Given the description of an element on the screen output the (x, y) to click on. 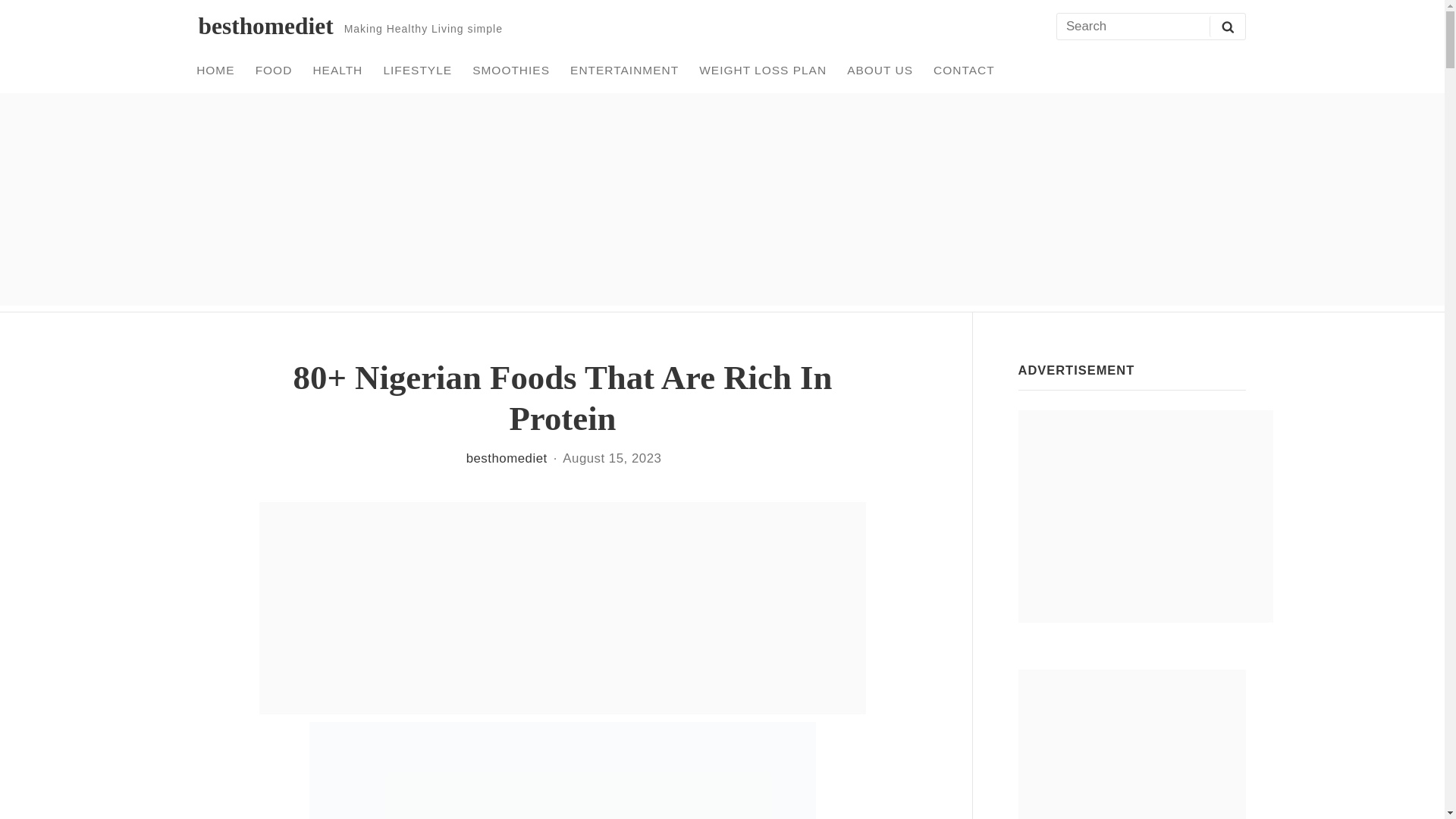
HEALTH (337, 69)
Search for: (1149, 26)
FOOD (273, 69)
ABOUT US (880, 69)
besthomediet (265, 25)
LIFESTYLE (417, 69)
WEIGHT LOSS PLAN (762, 69)
Advertisement (1130, 744)
Advertisement (1144, 516)
ENTERTAINMENT (624, 69)
